Given the description of an element on the screen output the (x, y) to click on. 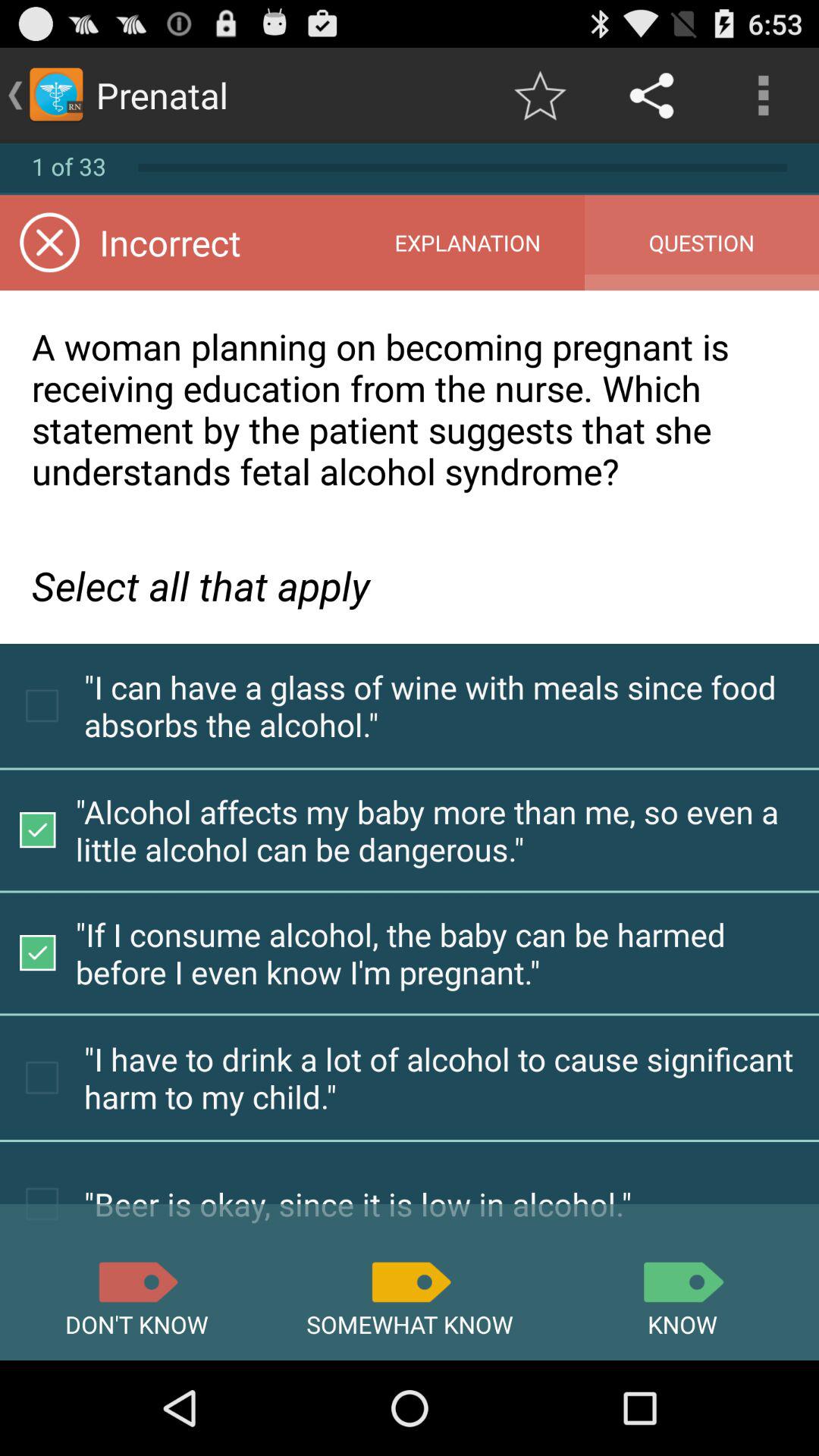
select know (682, 1281)
